Given the description of an element on the screen output the (x, y) to click on. 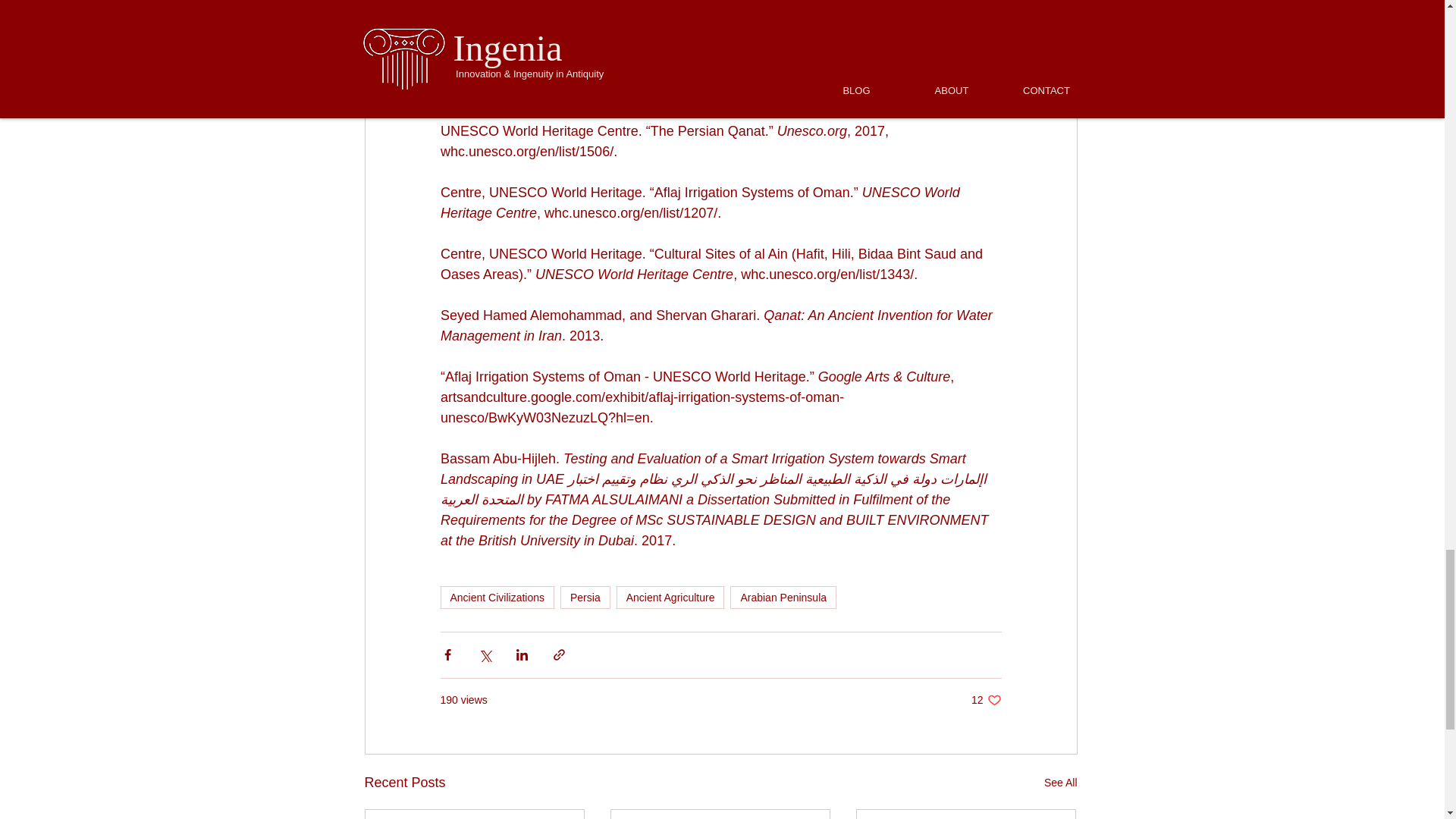
See All (986, 699)
Falaj at Al Ain - Bob McCaffrey, CC BY-SA 2.0 (1060, 782)
Ancient Agriculture (850, 9)
Persia (670, 597)
Arabian Peninsula (585, 597)
Ancient Civilizations (782, 597)
